Given the description of an element on the screen output the (x, y) to click on. 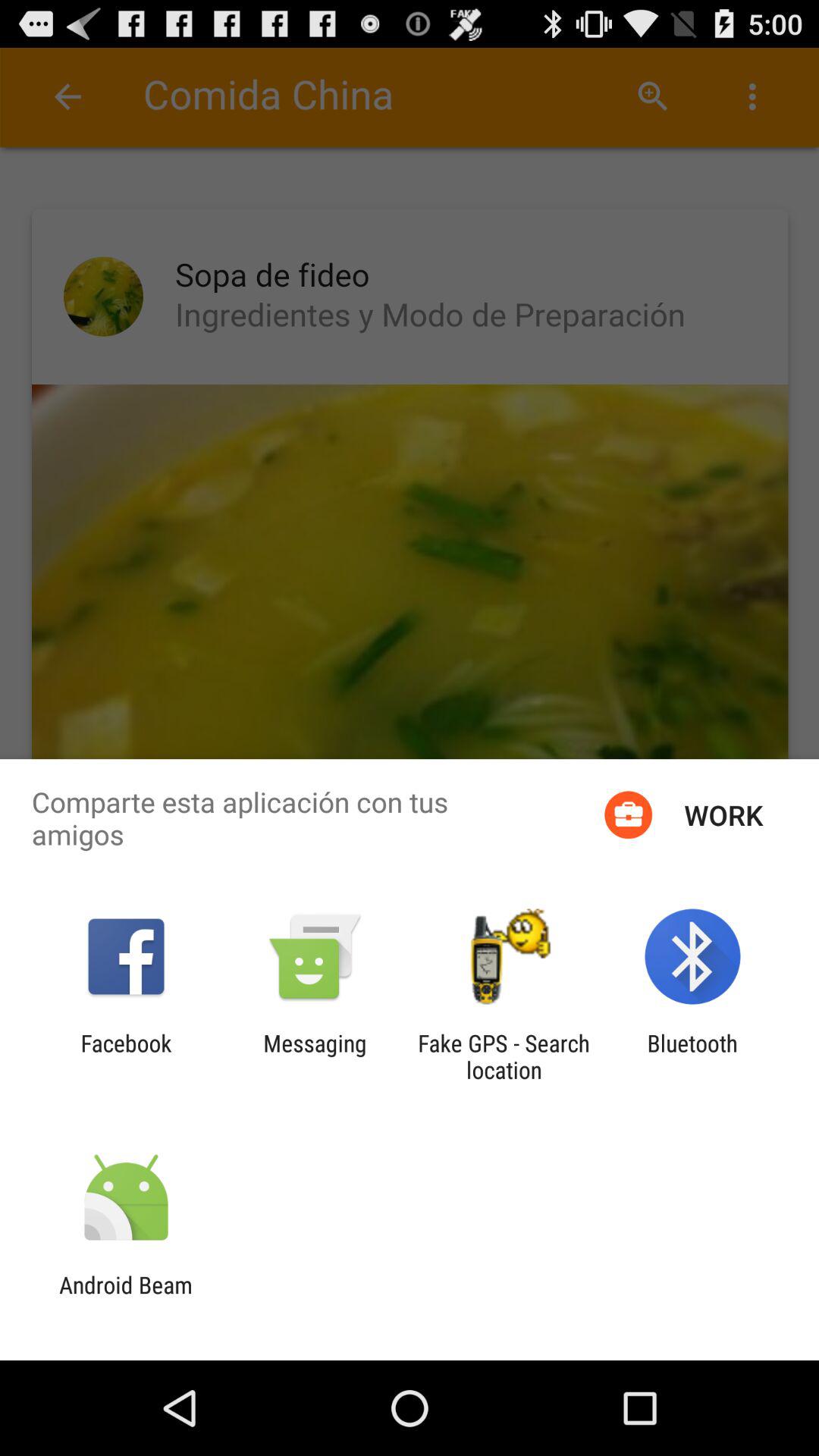
launch the item to the left of the fake gps search (314, 1056)
